Given the description of an element on the screen output the (x, y) to click on. 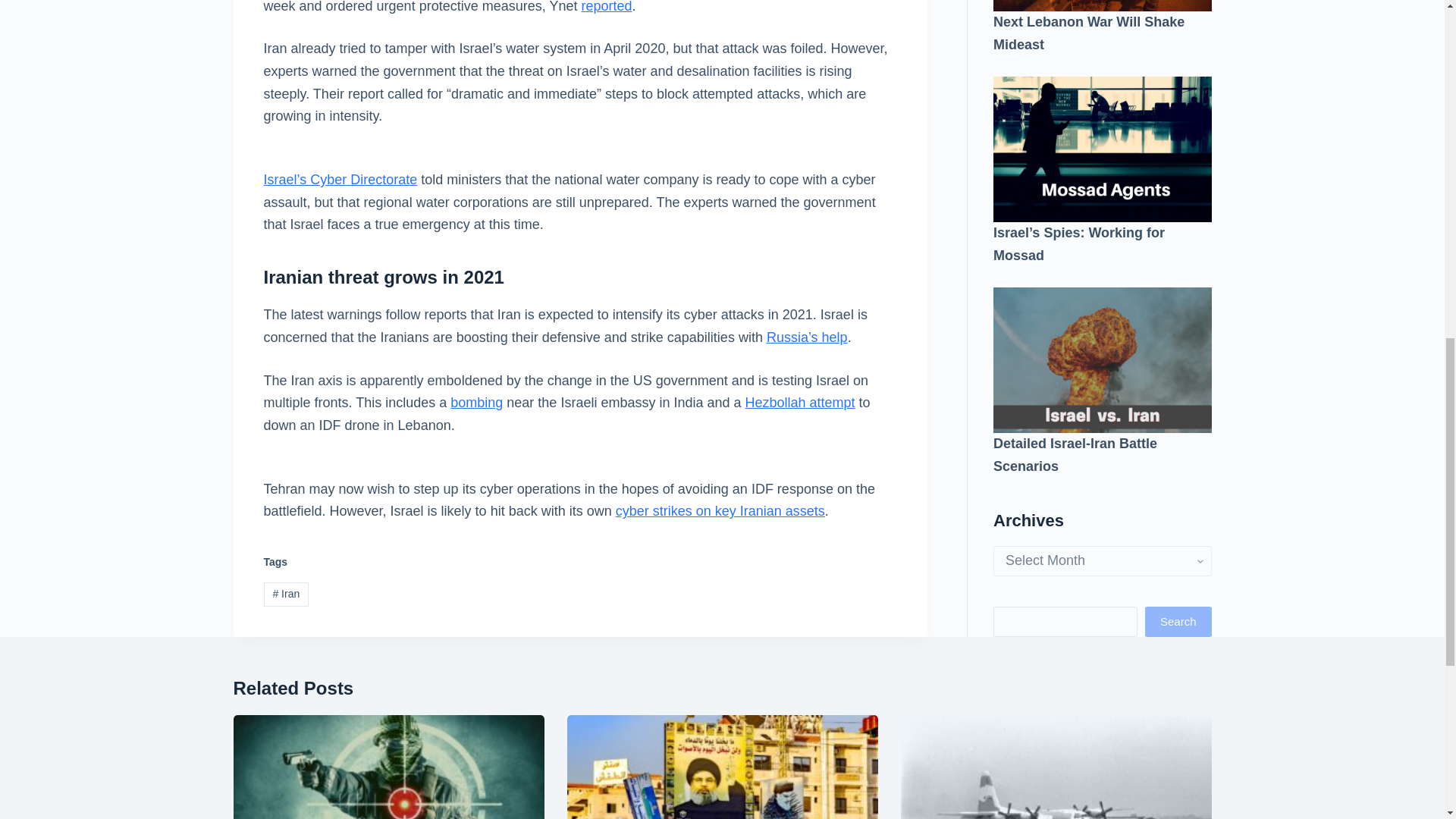
cyber strikes on key Iranian assets (720, 510)
bombing (475, 402)
reported (605, 6)
Search (1177, 110)
Hezbollah attempt (800, 402)
